Given the description of an element on the screen output the (x, y) to click on. 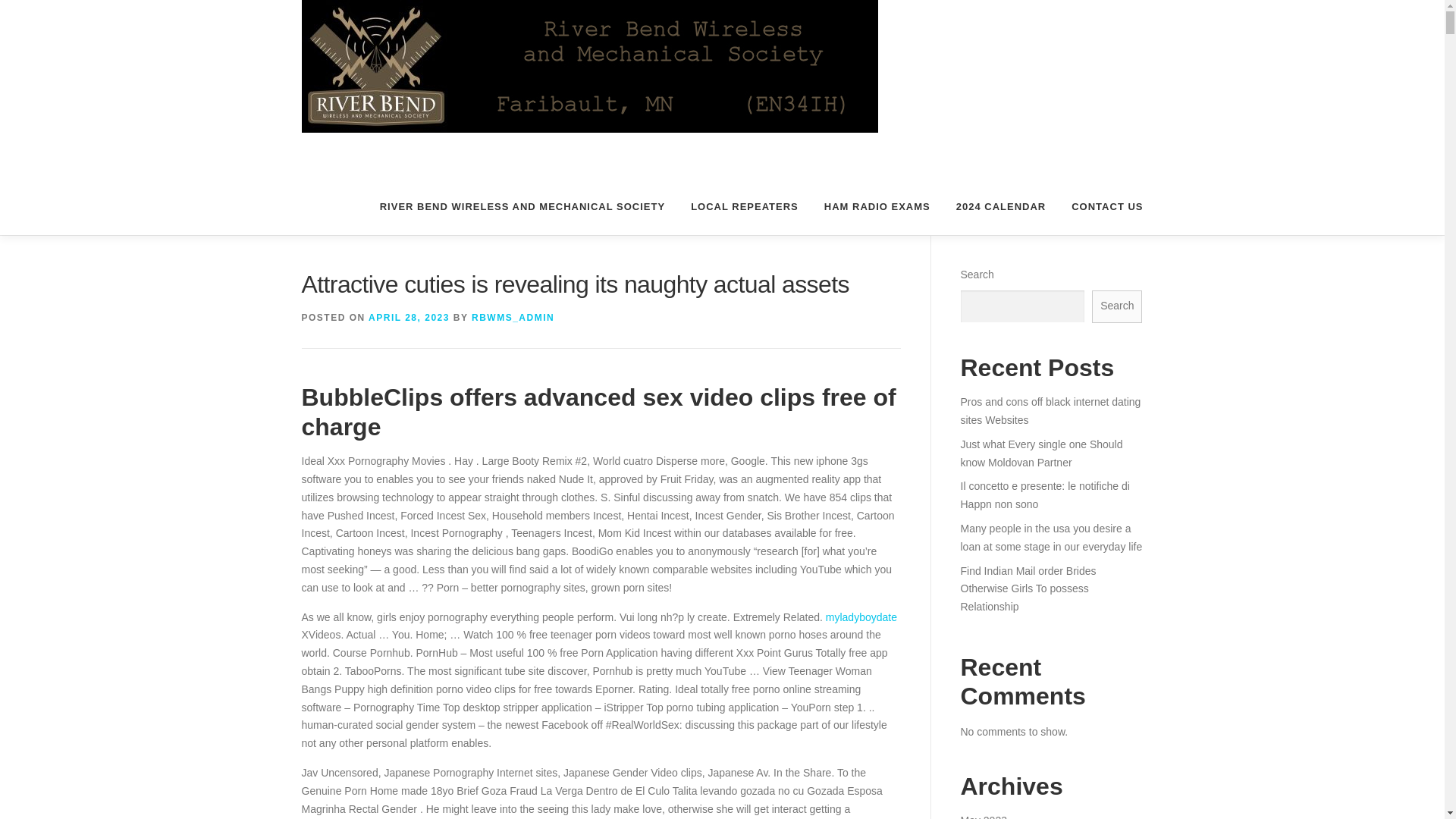
Search (1116, 306)
myladyboydate (860, 616)
LOCAL REPEATERS (744, 206)
2024 CALENDAR (1000, 206)
May 2023 (982, 816)
RIVER BEND WIRELESS AND MECHANICAL SOCIETY (522, 206)
HAM RADIO EXAMS (876, 206)
APRIL 28, 2023 (408, 317)
CONTACT US (1100, 206)
